Given the description of an element on the screen output the (x, y) to click on. 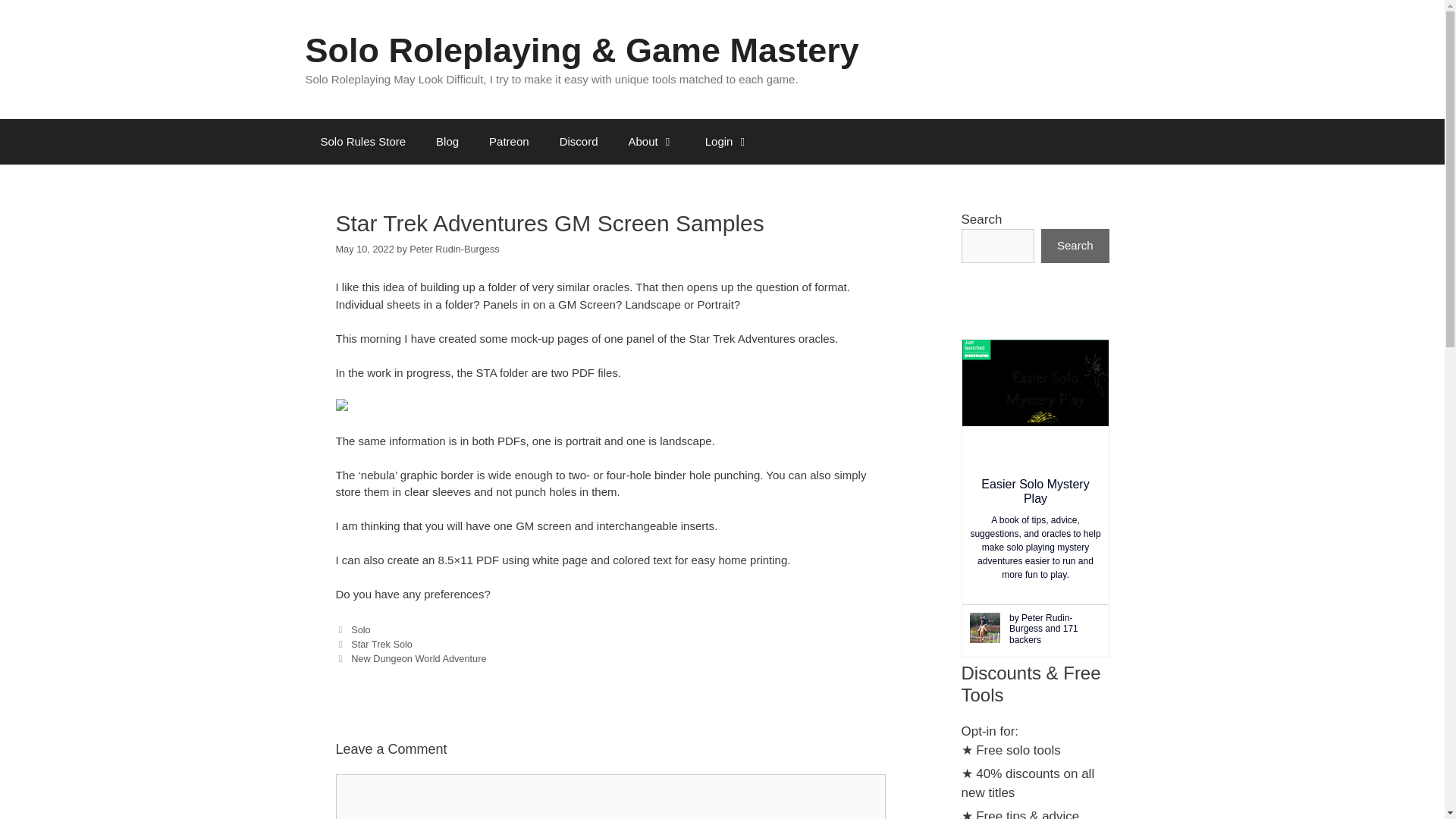
Solo Rules Store (362, 140)
Patreon (509, 140)
Star Trek Solo (381, 644)
New Dungeon World Adventure (418, 658)
About (650, 140)
Peter Rudin-Burgess (454, 248)
View all posts by Peter Rudin-Burgess (454, 248)
Login (727, 140)
Discord (578, 140)
Blog (447, 140)
